Given the description of an element on the screen output the (x, y) to click on. 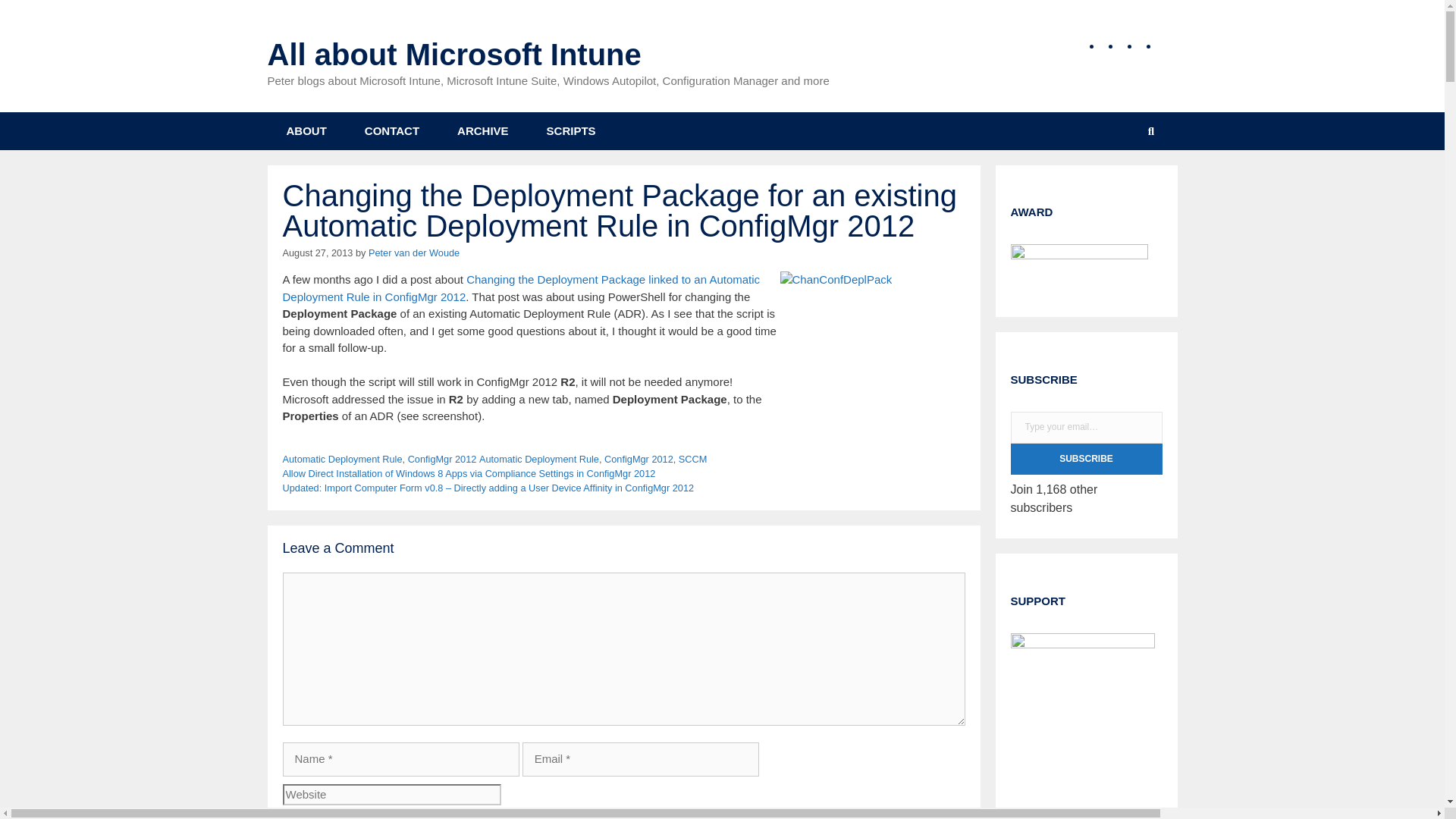
Please fill in this field. (1085, 427)
ConfigMgr 2012 (442, 459)
CONTACT (392, 130)
All about Microsoft Intune (453, 54)
Automatic Deployment Rule (538, 459)
ABOUT (305, 130)
SCCM (692, 459)
ChanConfDeplPack (870, 352)
subscribe (287, 816)
Peter van der Woude (414, 252)
View all posts by Peter van der Woude (414, 252)
ARCHIVE (482, 130)
SCRIPTS (570, 130)
